Given the description of an element on the screen output the (x, y) to click on. 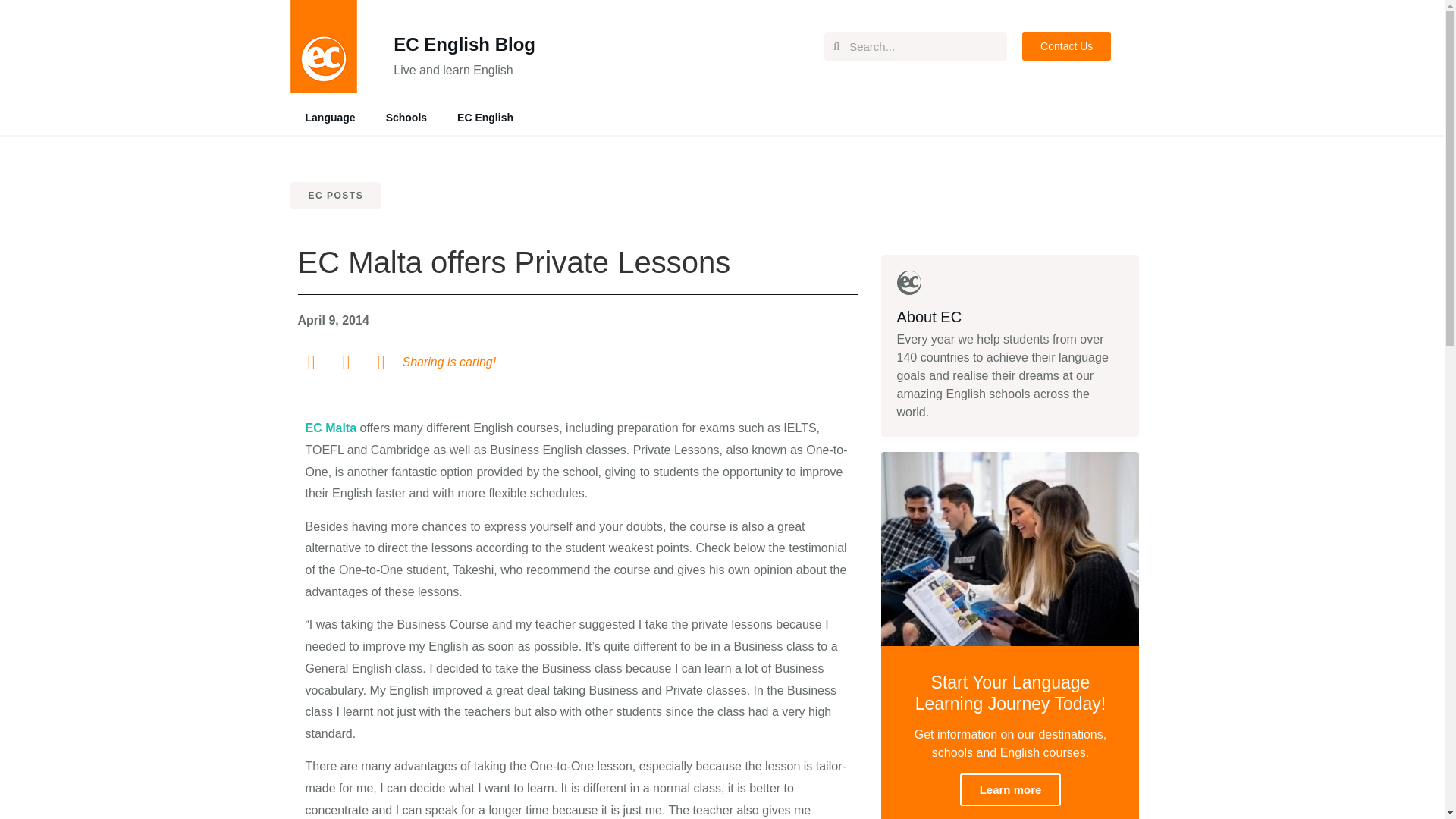
EC English (485, 117)
Contact Us (1066, 45)
Language (329, 117)
Schools (406, 117)
